Given the description of an element on the screen output the (x, y) to click on. 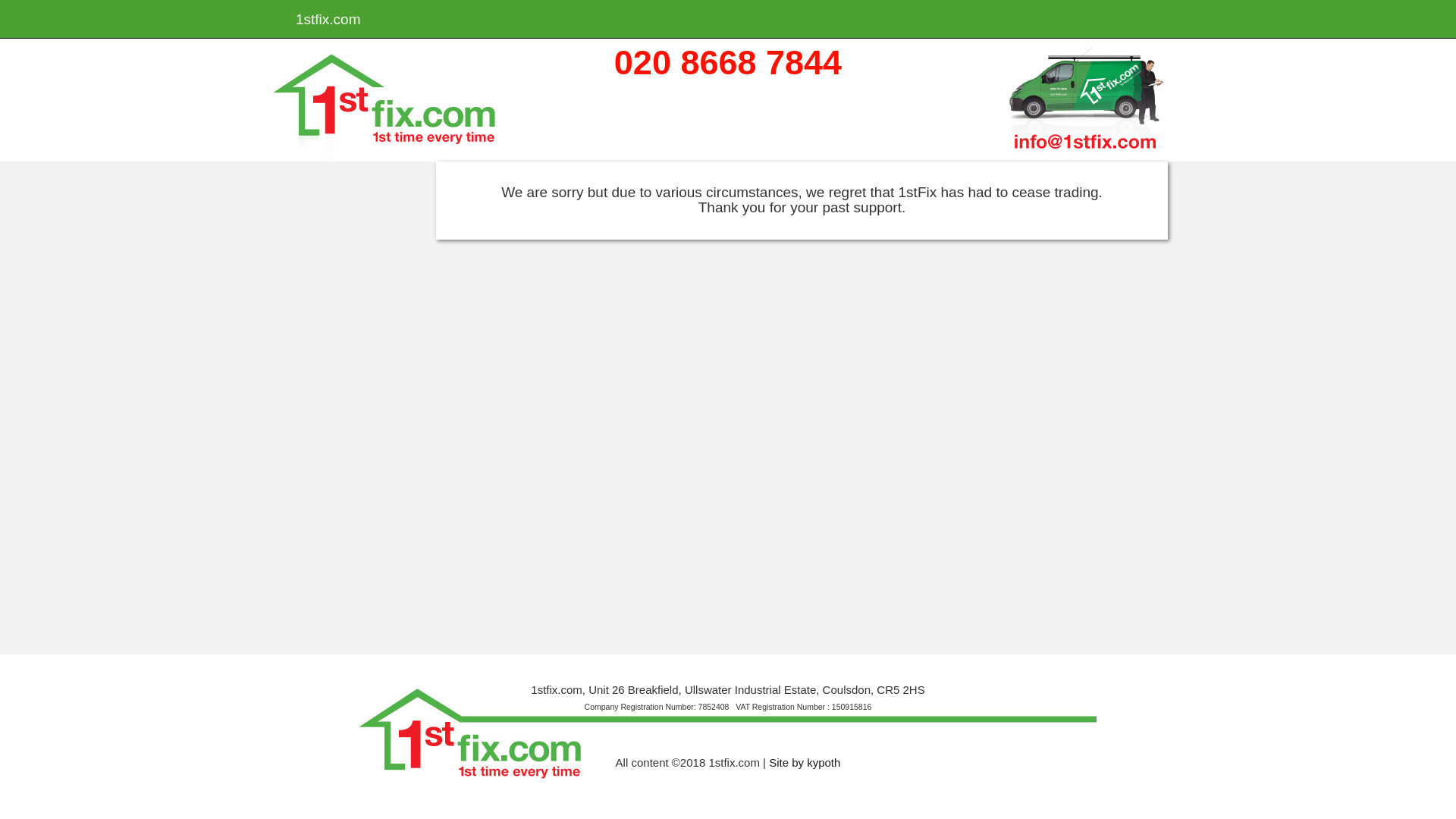
1stfix.com Element type: text (328, 18)
kypoth Element type: text (823, 762)
